Given the description of an element on the screen output the (x, y) to click on. 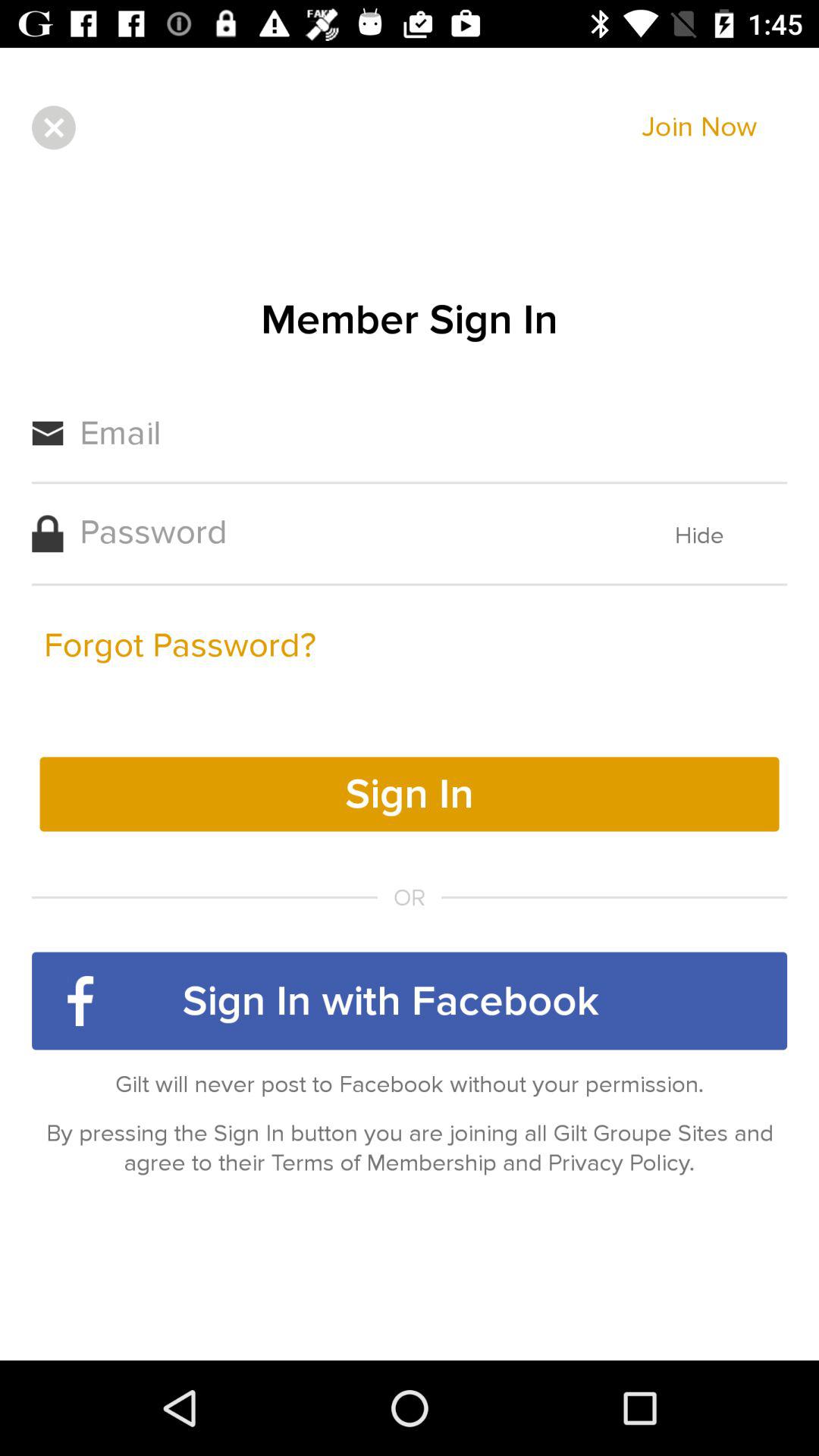
turn off icon on the right (699, 535)
